Given the description of an element on the screen output the (x, y) to click on. 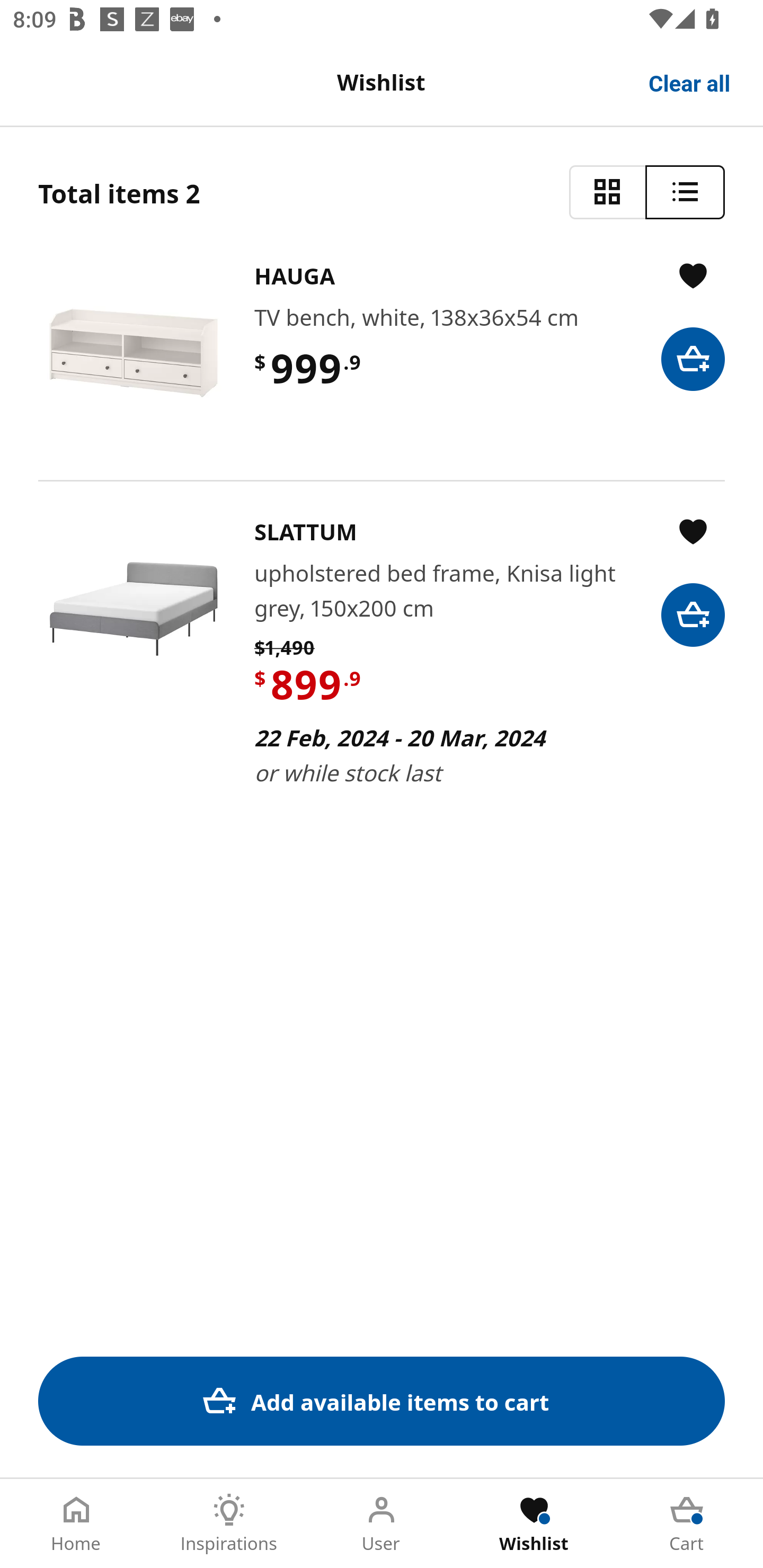
Clear all (689, 81)
​H​A​U​G​A​
TV bench, white, 138x36x54 cm
$
999
.9 (381, 352)
Add available items to cart (381, 1400)
Home
Tab 1 of 5 (76, 1522)
Inspirations
Tab 2 of 5 (228, 1522)
User
Tab 3 of 5 (381, 1522)
Wishlist
Tab 4 of 5 (533, 1522)
Cart
Tab 5 of 5 (686, 1522)
